Given the description of an element on the screen output the (x, y) to click on. 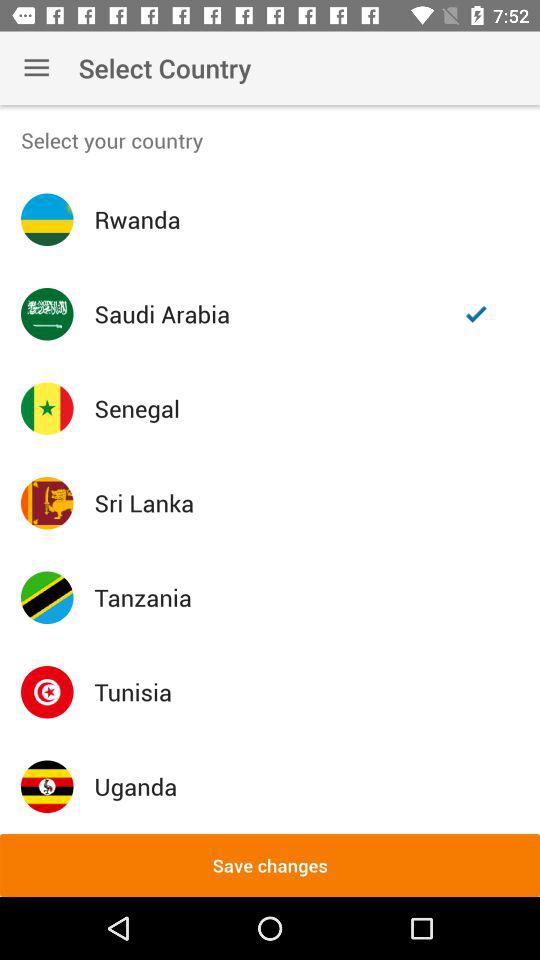
select item above select your country (36, 68)
